Given the description of an element on the screen output the (x, y) to click on. 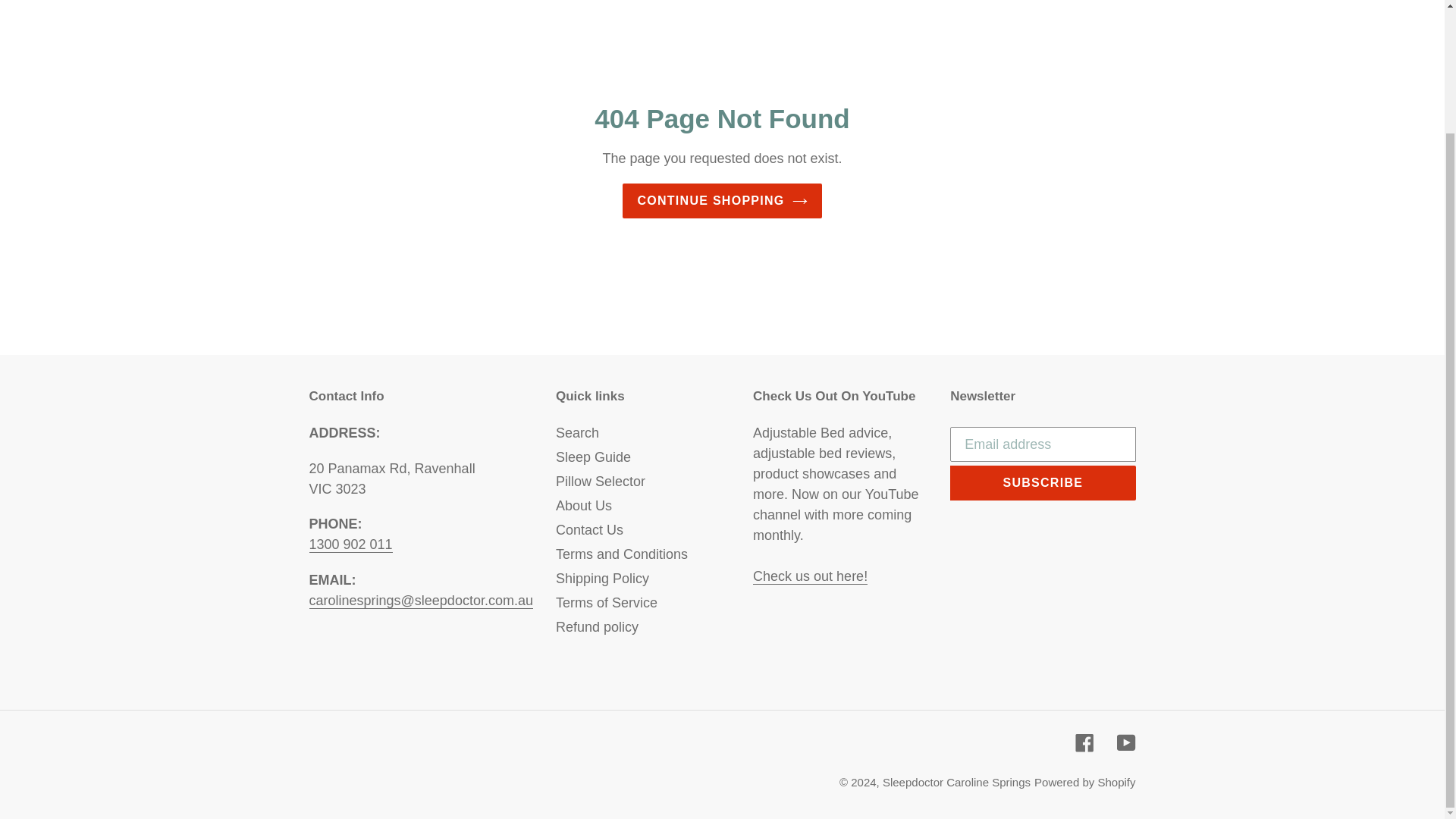
Pillow Selector (600, 481)
Terms of Service (607, 602)
Contact Us (589, 529)
1300 902 011 (350, 555)
Shipping Policy (602, 578)
Check us out here! (809, 576)
Terms and Conditions (621, 554)
Sleep Guide (593, 457)
Sleep Doctor Caroline Springs YouTube Channel (809, 576)
Search (577, 432)
Refund policy (597, 626)
CONTINUE SHOPPING (722, 200)
About Us (583, 505)
